Given the description of an element on the screen output the (x, y) to click on. 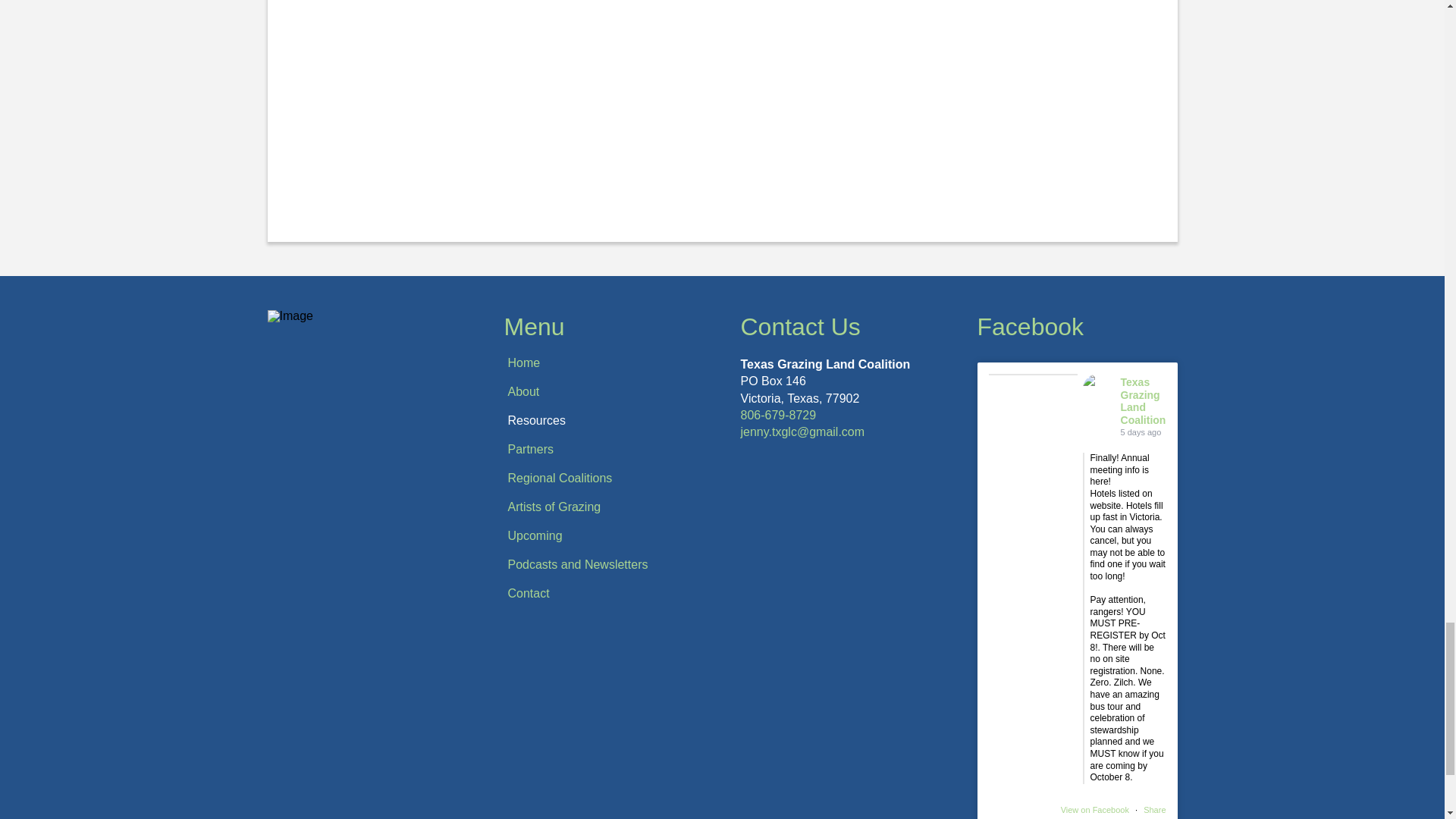
View on Facebook (1096, 809)
Share (1154, 809)
